Given the description of an element on the screen output the (x, y) to click on. 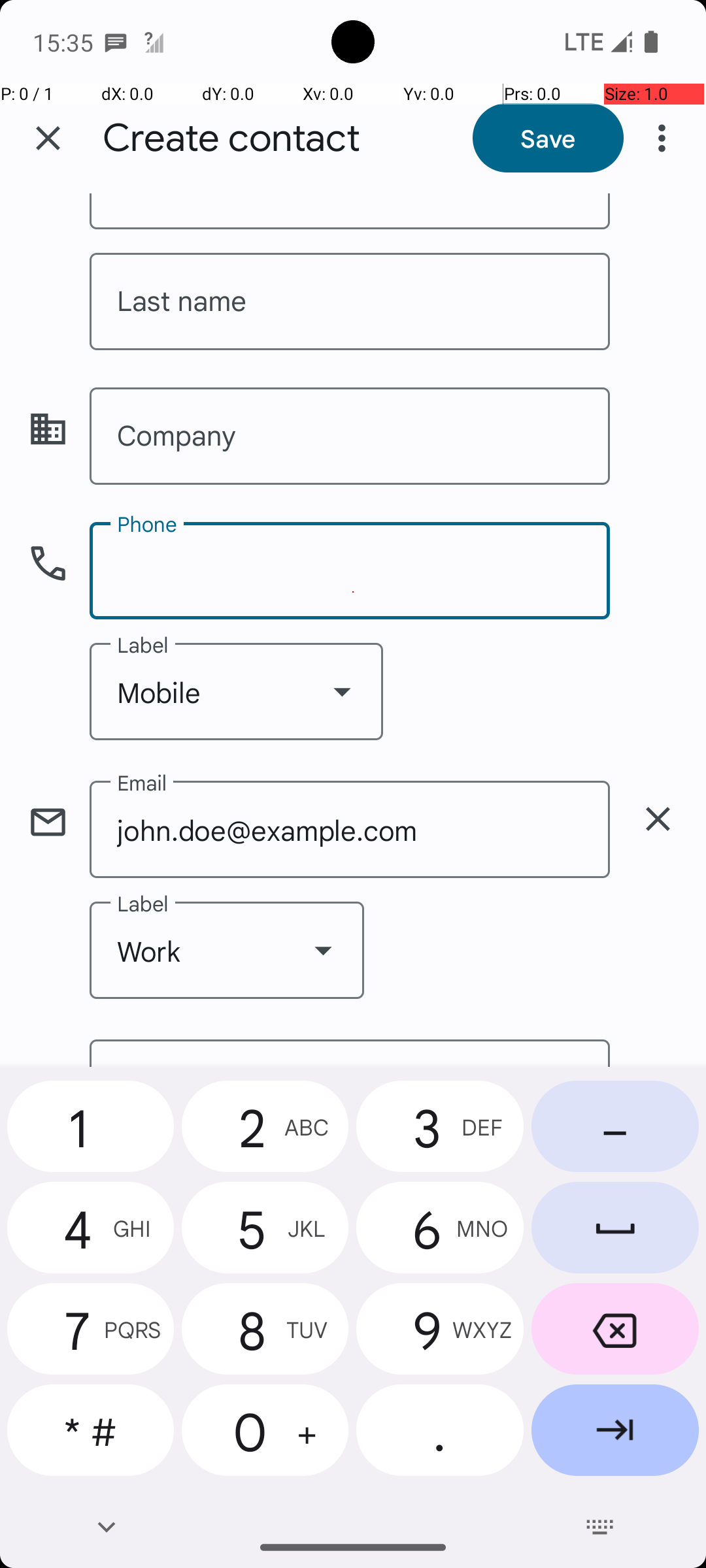
john.doe@example.com Element type: android.widget.EditText (349, 829)
Delete Work Email Element type: android.widget.FrameLayout (657, 818)
Email Element type: android.widget.EditText (349, 1052)
delete Element type: android.widget.ImageView (657, 818)
